Given the description of an element on the screen output the (x, y) to click on. 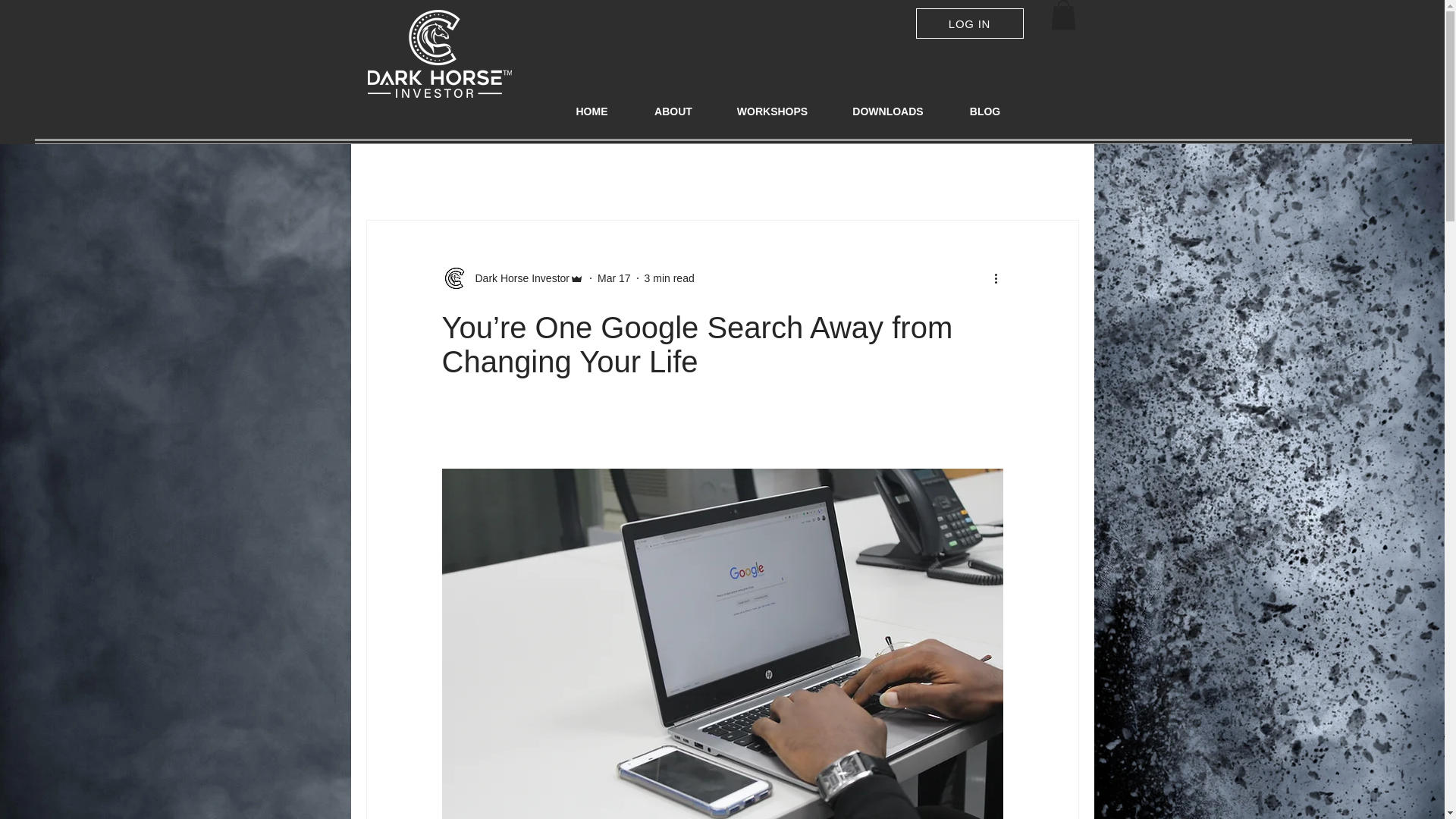
DOWNLOADS (888, 111)
ABOUT (672, 111)
LOG IN (969, 23)
Mar 17 (613, 277)
3 min read (669, 277)
BLOG (984, 111)
Dark Horse Investor (517, 277)
Dark Horse Investor (512, 278)
HOME (590, 111)
WORKSHOPS (772, 111)
